Given the description of an element on the screen output the (x, y) to click on. 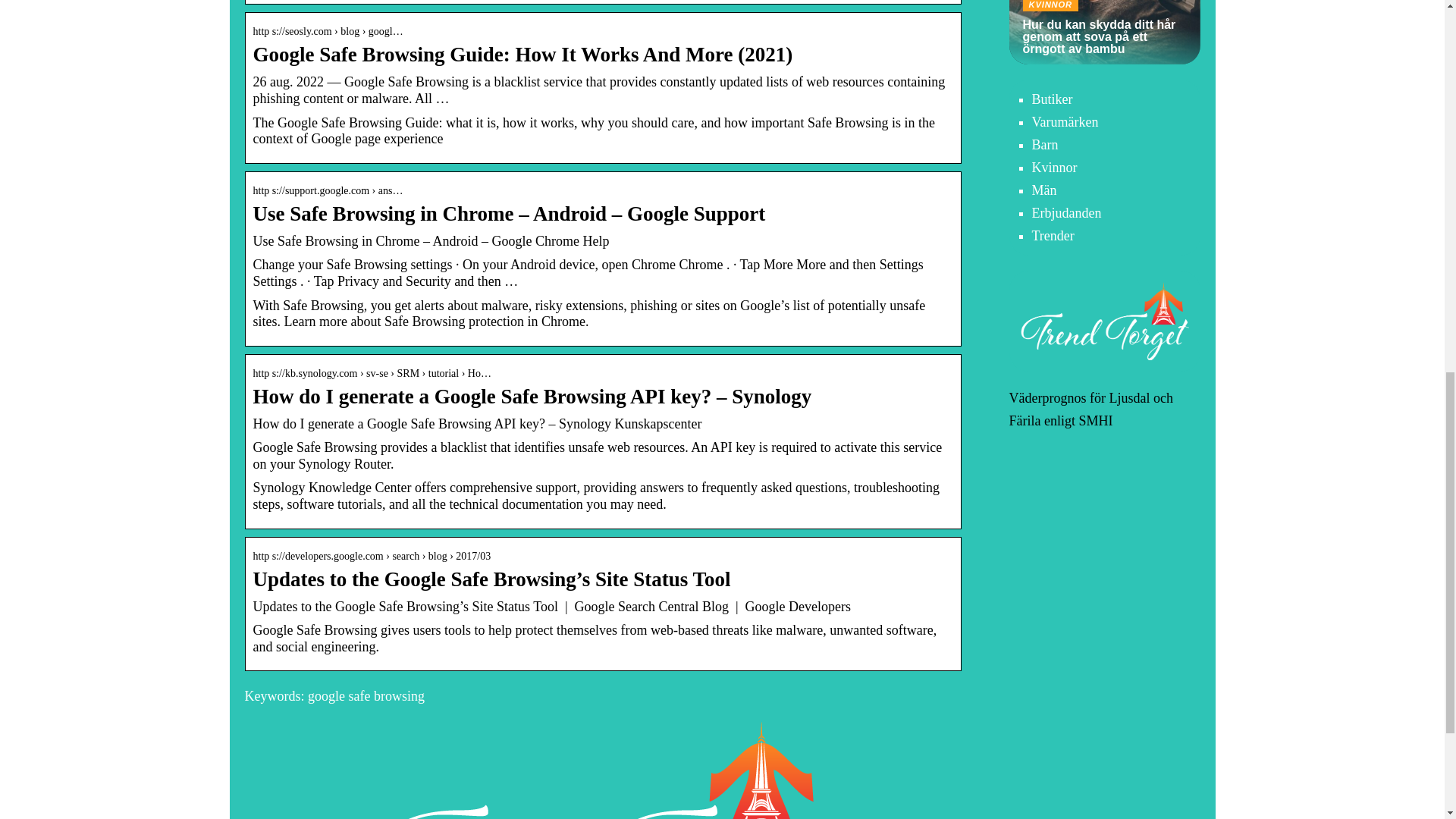
Butiker (1050, 99)
Kvinnor (1053, 167)
Erbjudanden (1065, 212)
Trender (1052, 235)
Barn (1044, 144)
